Given the description of an element on the screen output the (x, y) to click on. 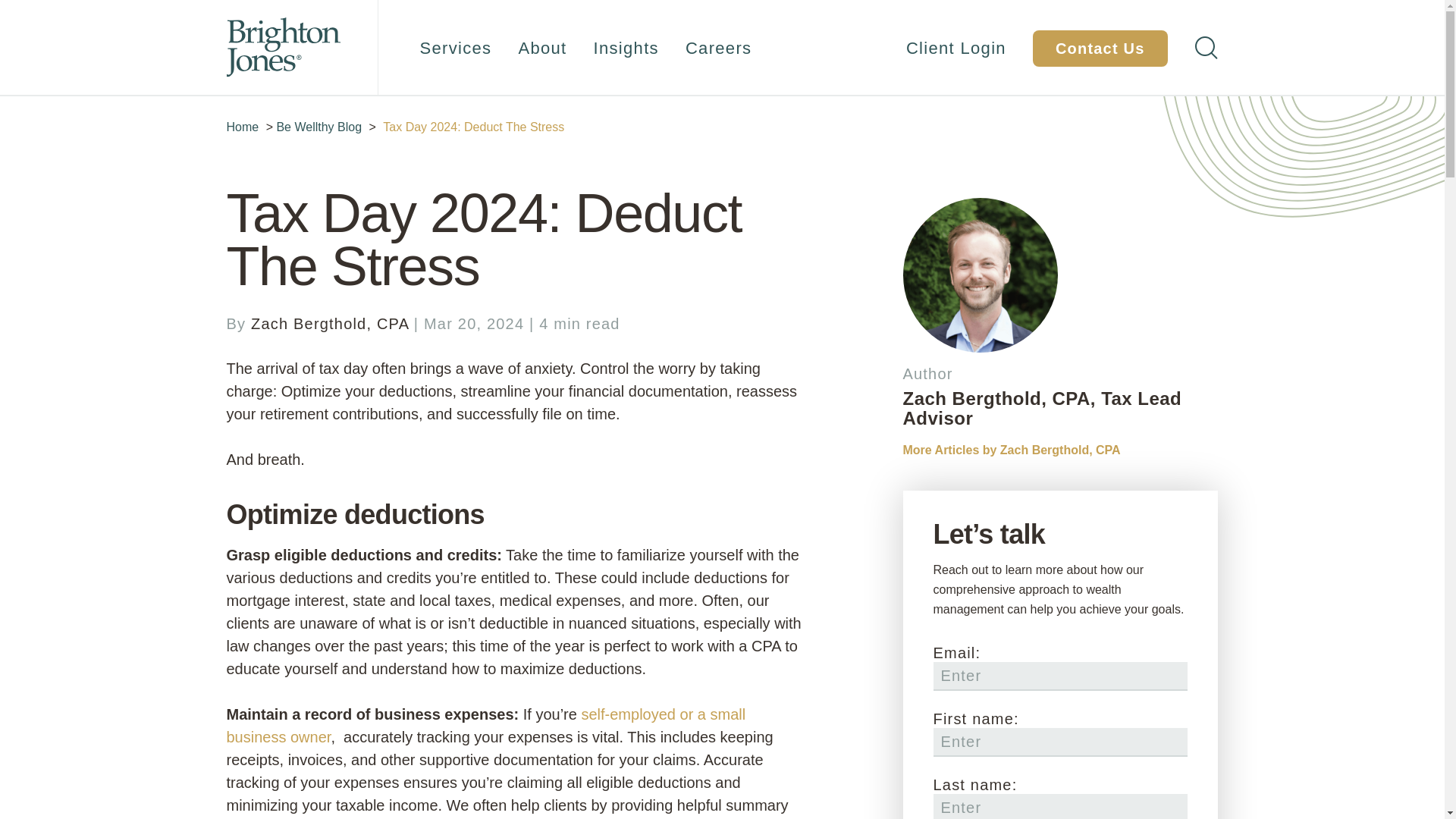
Home (242, 126)
Be Wellthy Blog (318, 126)
More Articles by Zach Bergthold, CPA (1010, 449)
self-employed or a small business owner (485, 725)
Zach Bergthold, CPA (329, 323)
Contact Us (1099, 48)
Client Login (955, 48)
